Given the description of an element on the screen output the (x, y) to click on. 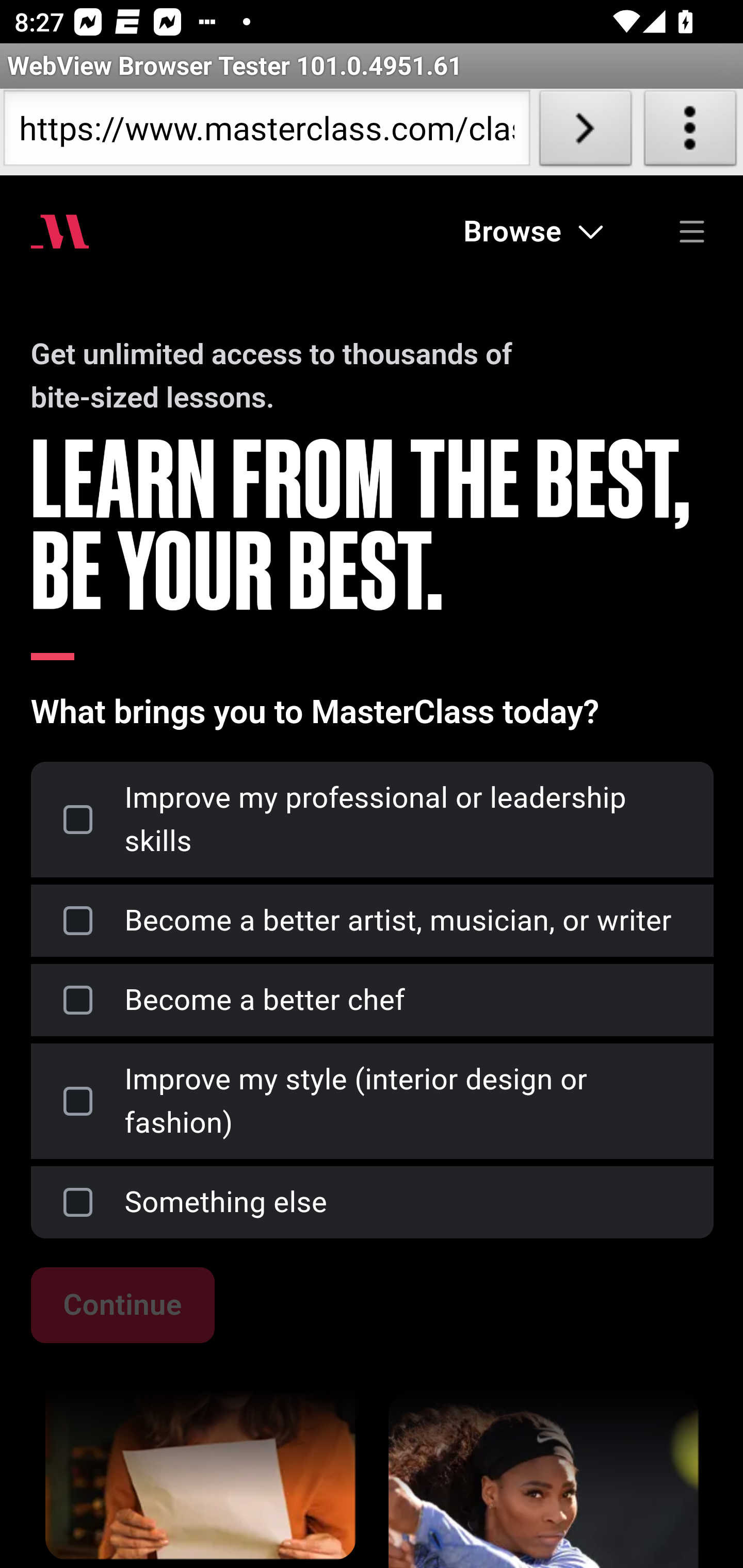
Load URL (585, 132)
About WebView (690, 132)
Browse (533, 230)
MasterClass logo (59, 230)
Improve my professional or leadership skills (371, 819)
Become a better artist, musician, or writer (371, 920)
Become a better chef (371, 1000)
Improve my style (interior design or fashion) (371, 1100)
Something else (371, 1202)
Continue (121, 1305)
